Given the description of an element on the screen output the (x, y) to click on. 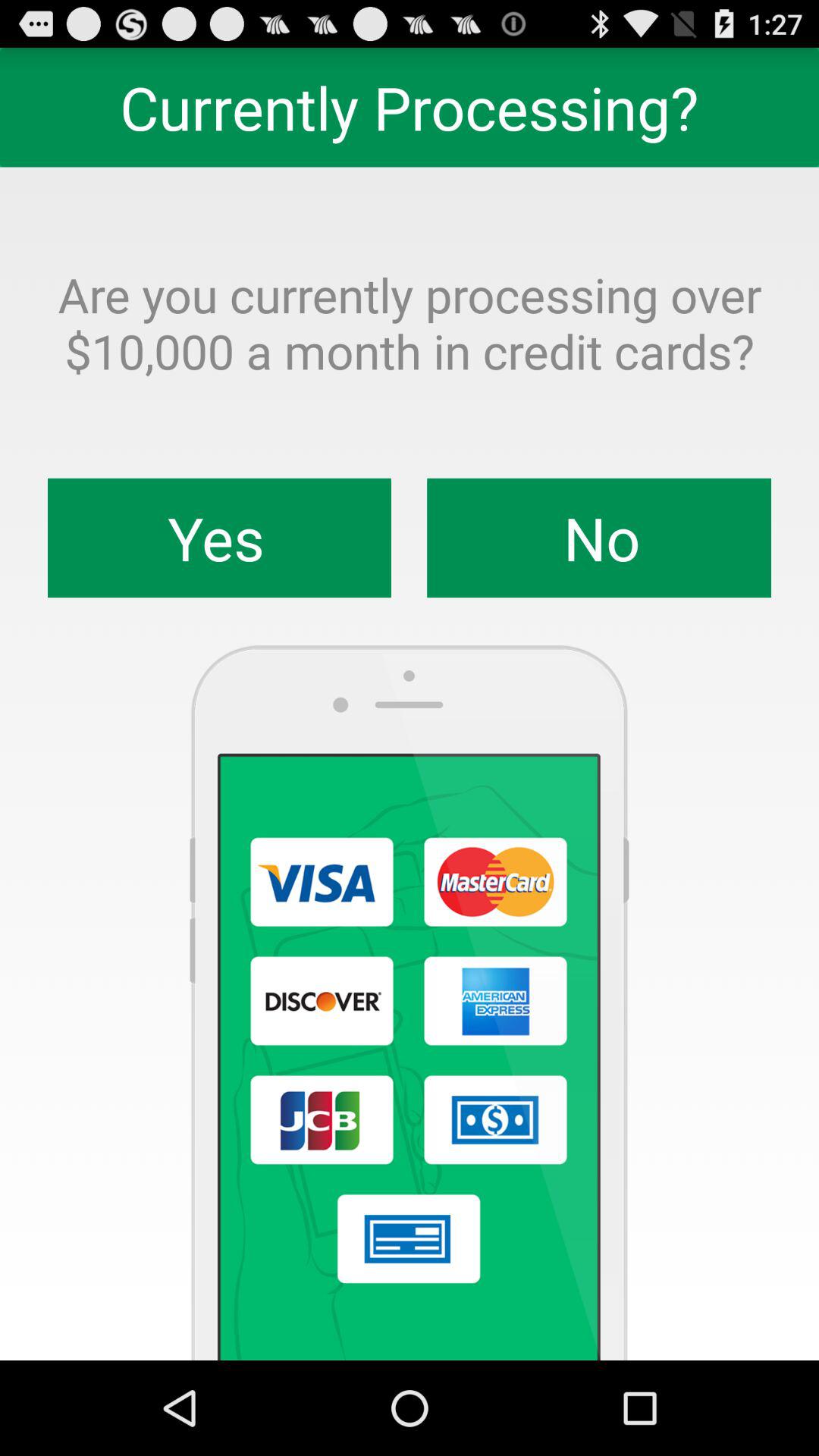
open the app below are you currently app (599, 537)
